Given the description of an element on the screen output the (x, y) to click on. 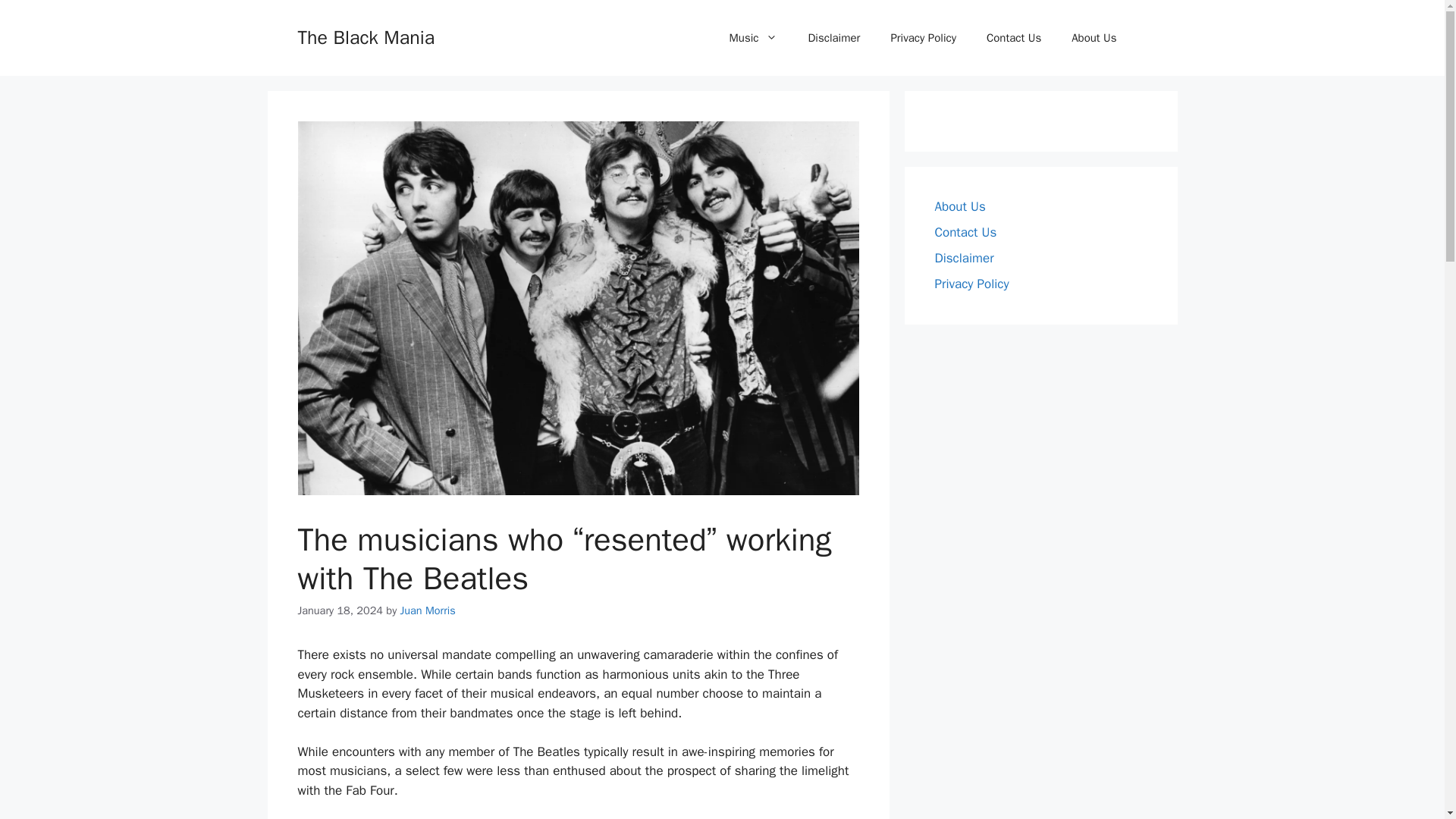
Disclaimer (833, 37)
Contact Us (1014, 37)
Music (753, 37)
About Us (1094, 37)
The Black Mania (365, 37)
View all posts by Juan Morris (427, 610)
About Us (959, 206)
Privacy Policy (971, 283)
Contact Us (964, 232)
Disclaimer (963, 258)
